Given the description of an element on the screen output the (x, y) to click on. 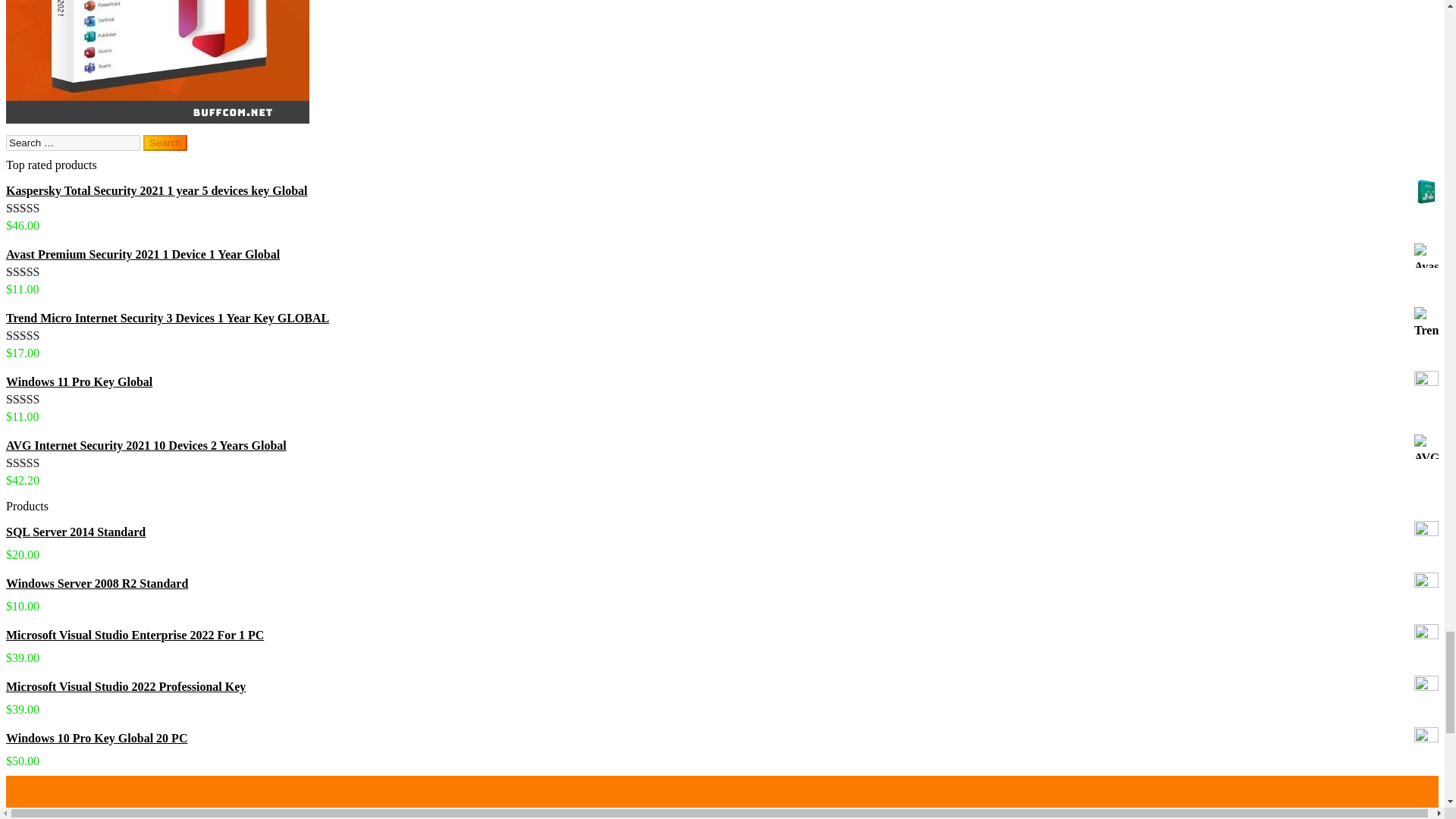
Search (164, 142)
Search (164, 142)
